Given the description of an element on the screen output the (x, y) to click on. 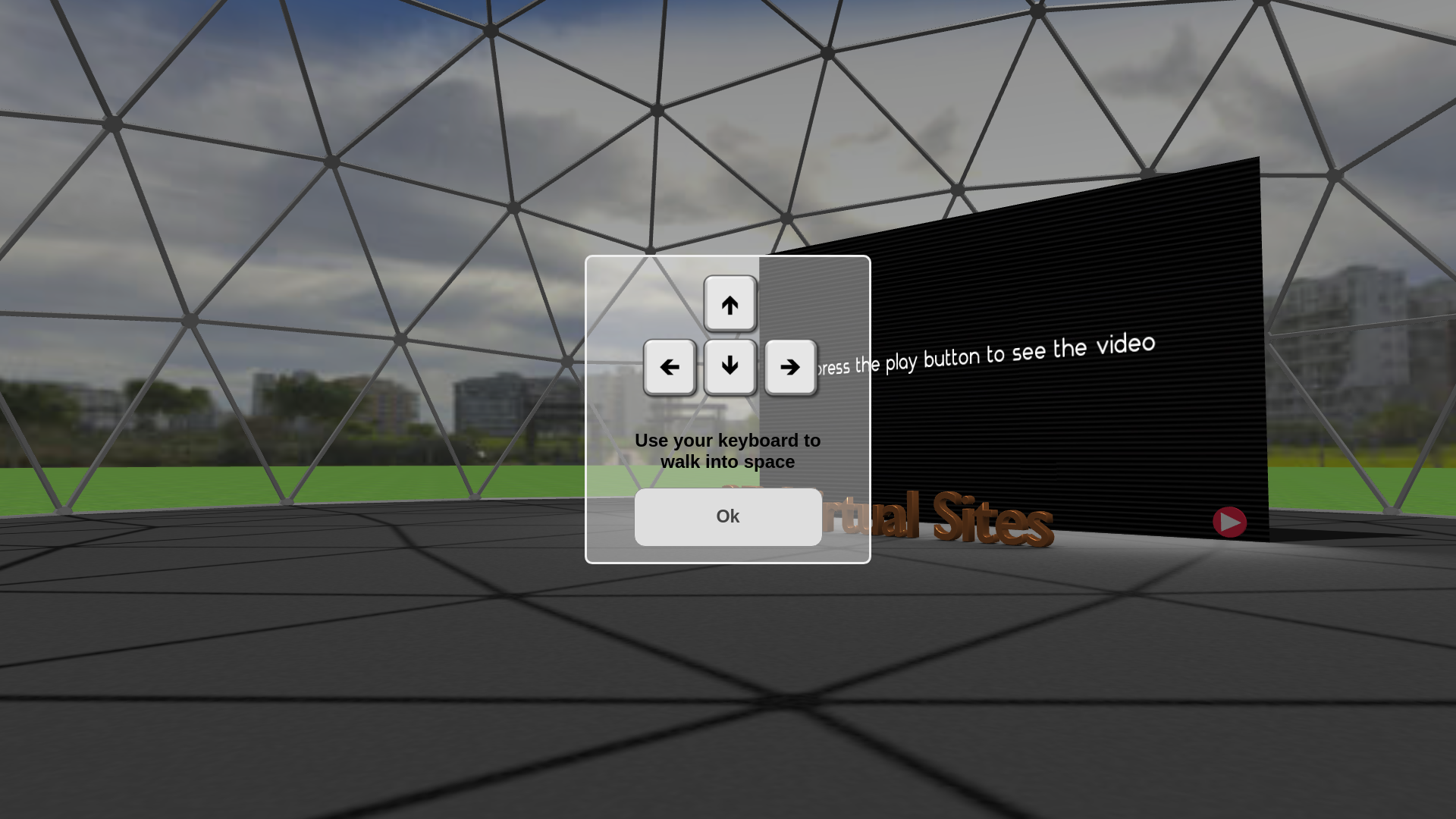
Ok Element type: text (727, 516)
